Given the description of an element on the screen output the (x, y) to click on. 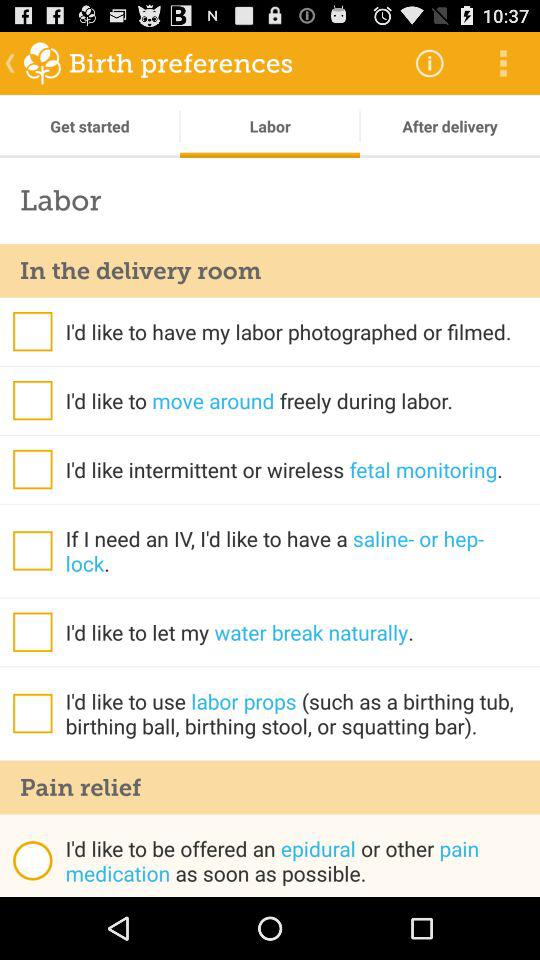
tick there (32, 469)
